Given the description of an element on the screen output the (x, y) to click on. 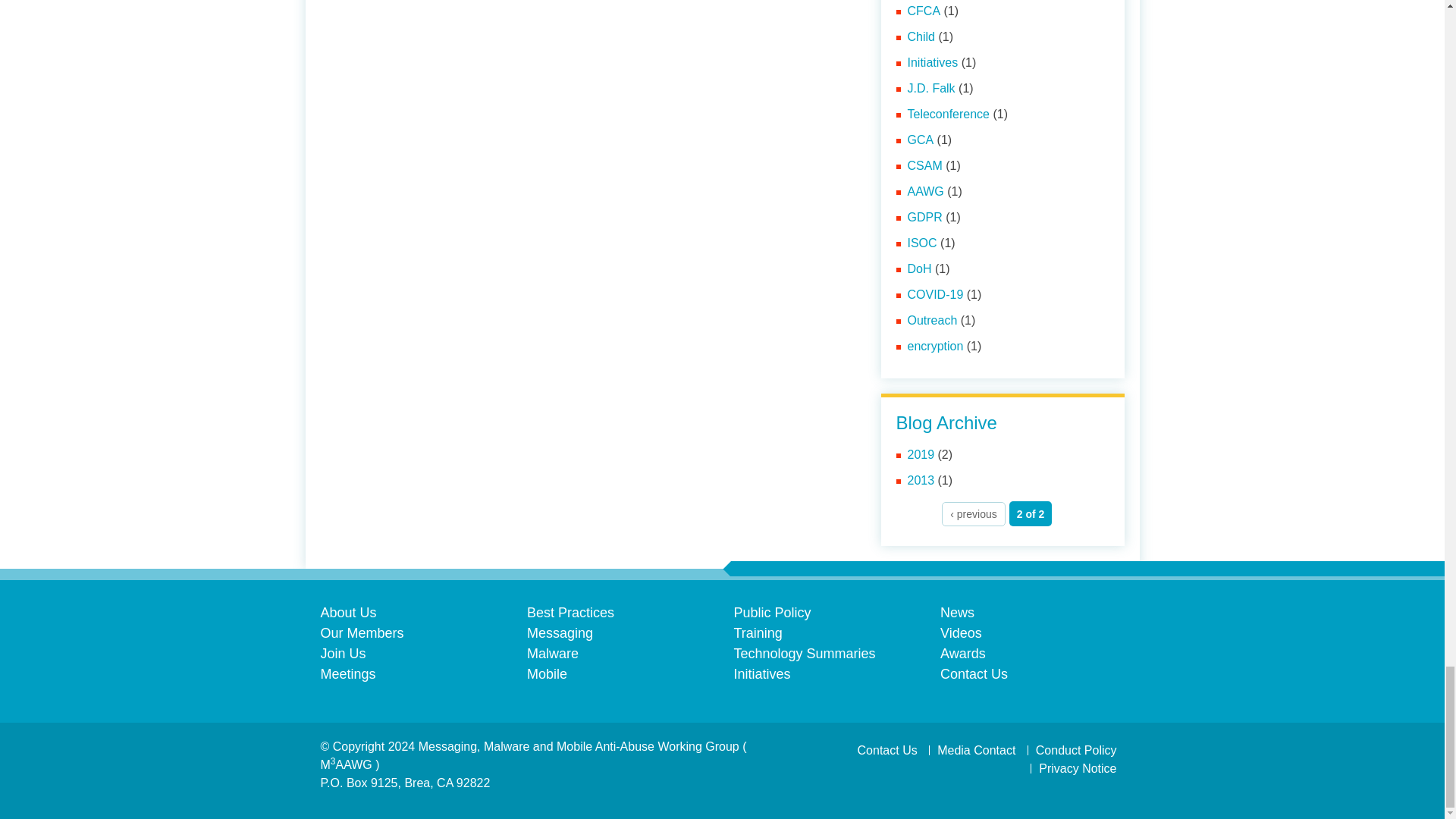
Go to previous page (973, 514)
